Given the description of an element on the screen output the (x, y) to click on. 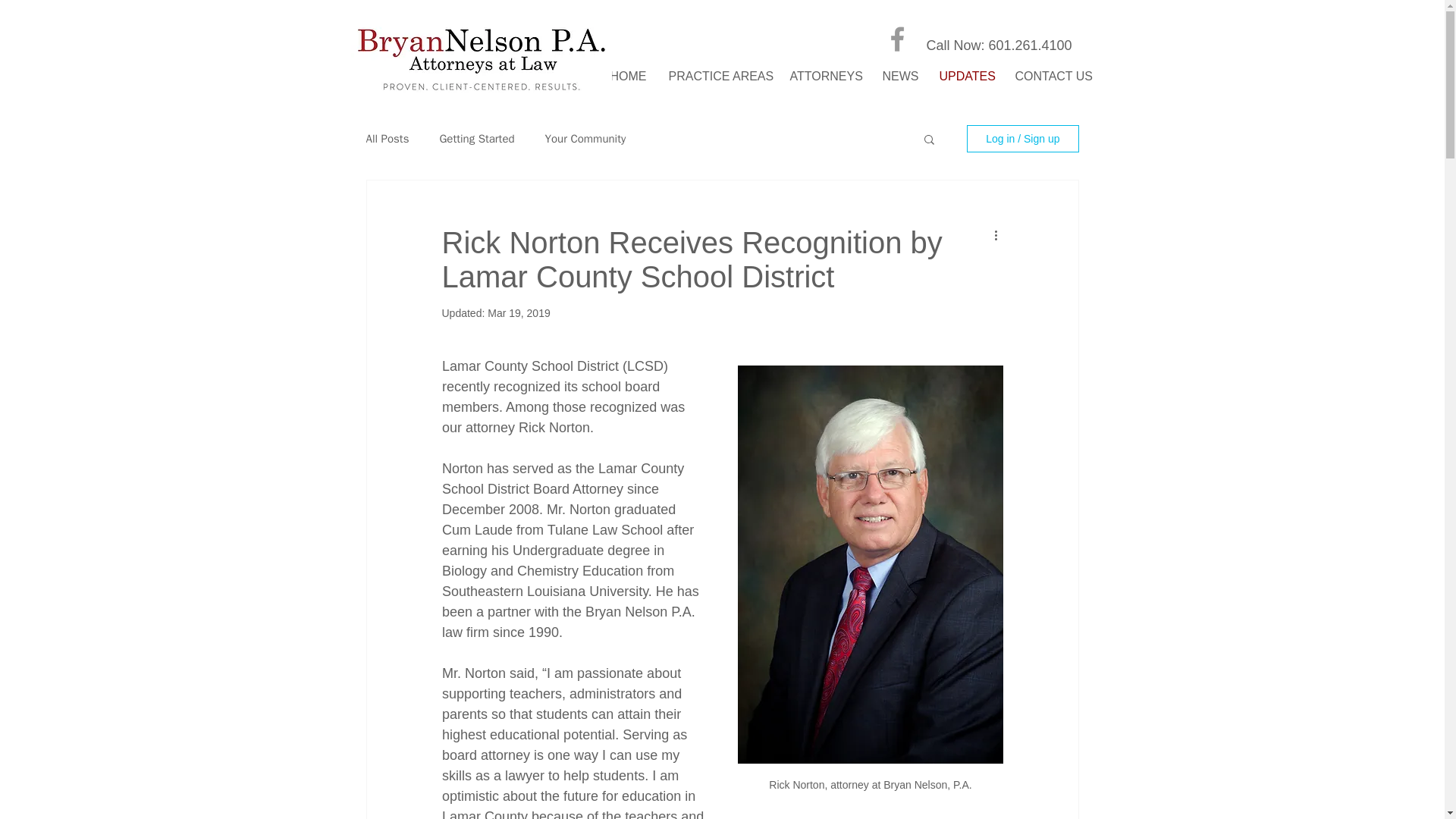
Your Community (585, 138)
CONTACT US (1053, 74)
Getting Started (476, 138)
UPDATES (966, 74)
ATTORNEYS (823, 74)
NEWS (898, 74)
All Posts (387, 138)
Mar 19, 2019 (518, 313)
Call Now: 601.261.4100 (998, 45)
PRACTICE AREAS (716, 74)
HOME (628, 74)
